Given the description of an element on the screen output the (x, y) to click on. 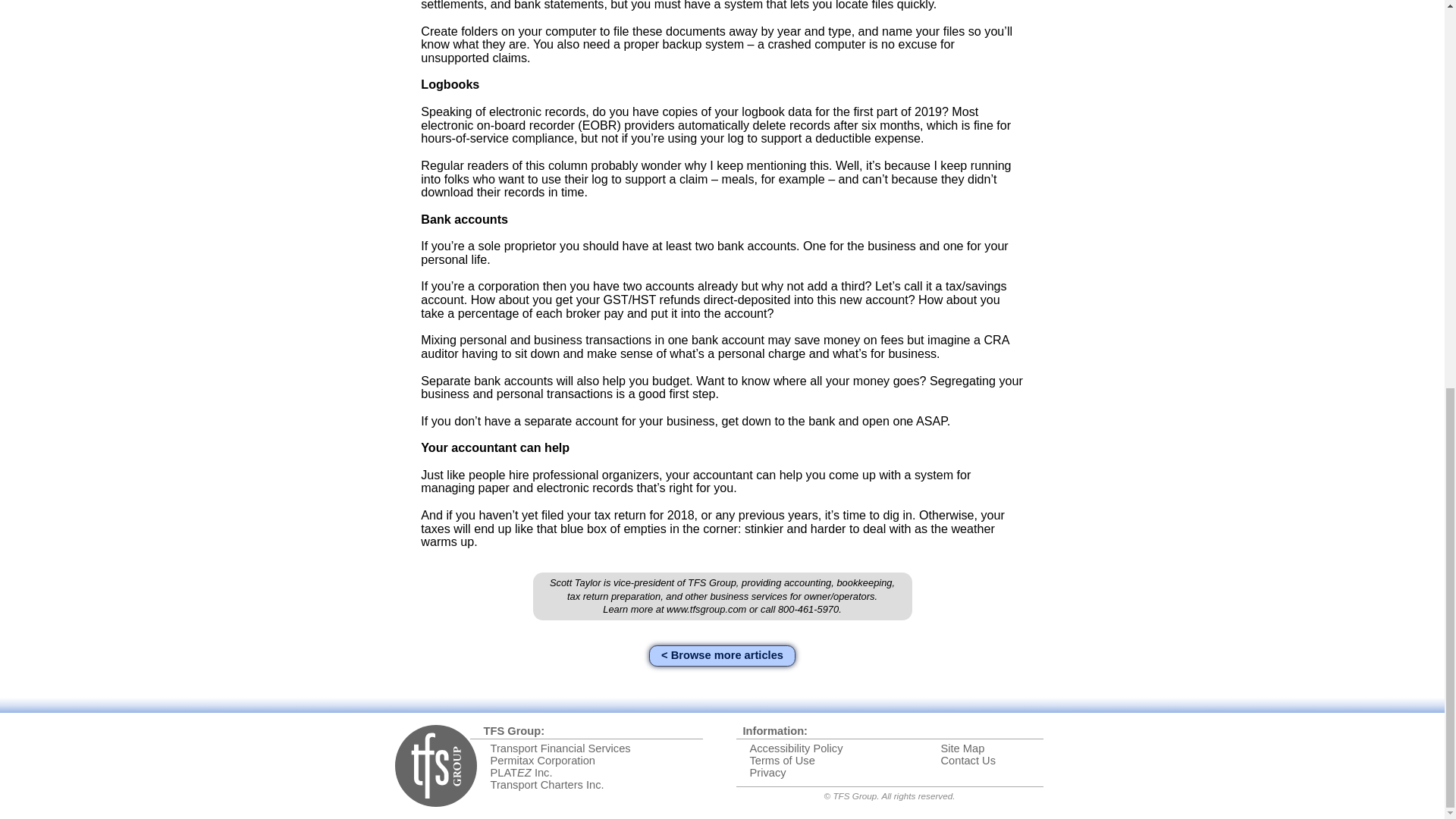
PLATEZ Inc. (520, 772)
Information: (775, 730)
Privacy (767, 772)
Transport Financial Services (559, 748)
TFS Group logo (435, 765)
Accessibility Policy (796, 748)
Site Map (962, 748)
Permitax Corporation (541, 760)
Terms of Use (781, 760)
TFS Group: (513, 730)
Contact Us (967, 760)
Transport Charters Inc. (546, 784)
